Given the description of an element on the screen output the (x, y) to click on. 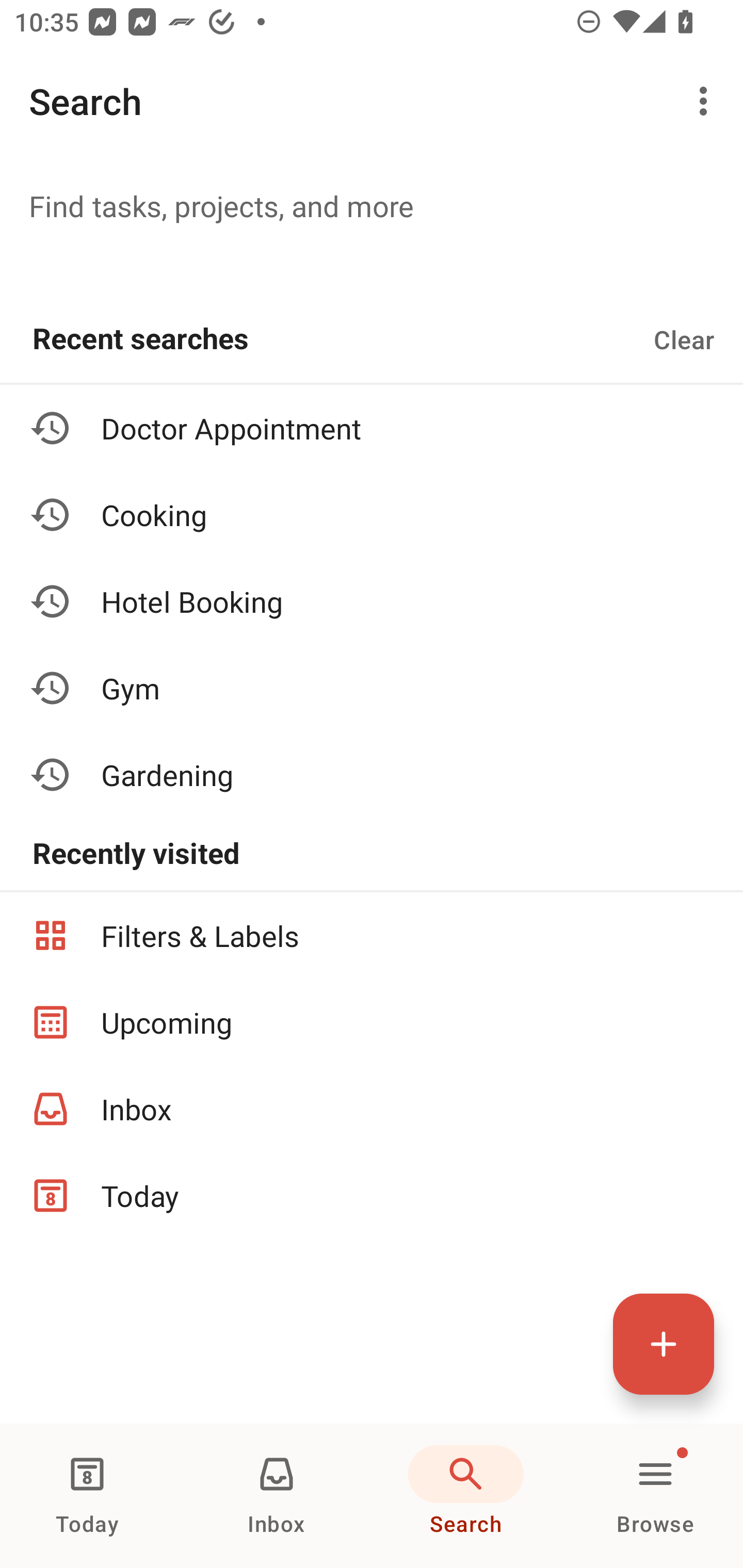
Search More options (371, 100)
More options (706, 101)
Find tasks, projects, and more (371, 205)
Clear (683, 339)
Doctor Appointment (371, 427)
Cooking (371, 514)
Hotel Booking (371, 601)
Gym (371, 687)
Gardening (371, 774)
Filters & Labels (371, 935)
Upcoming (371, 1022)
Inbox (371, 1109)
Today (371, 1195)
Quick add (663, 1343)
Today (87, 1495)
Inbox (276, 1495)
Browse (655, 1495)
